Given the description of an element on the screen output the (x, y) to click on. 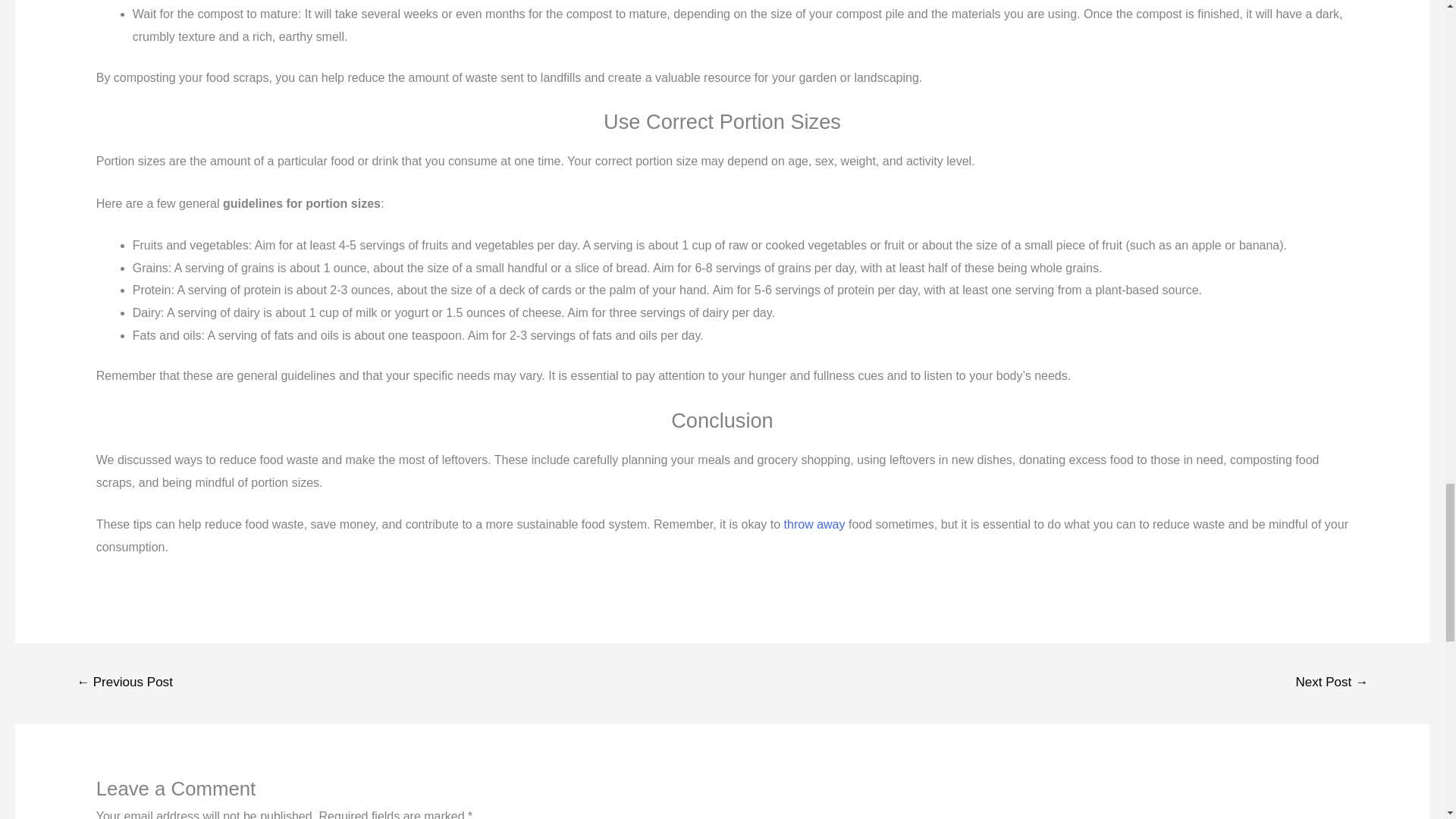
throw away (814, 523)
